Given the description of an element on the screen output the (x, y) to click on. 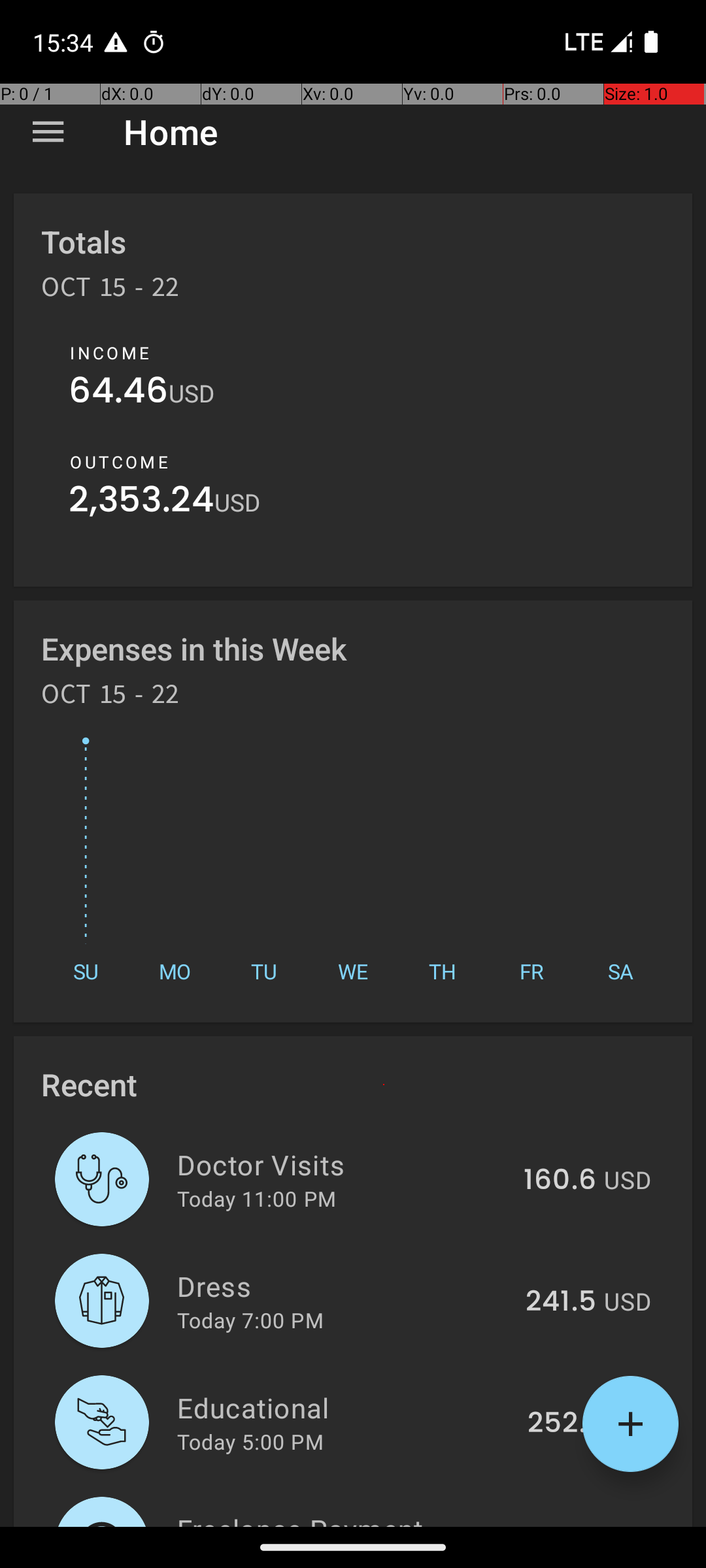
64.46 Element type: android.widget.TextView (118, 393)
2,353.24 Element type: android.widget.TextView (141, 502)
Doctor Visits Element type: android.widget.TextView (342, 1164)
Today 11:00 PM Element type: android.widget.TextView (256, 1198)
160.6 Element type: android.widget.TextView (559, 1180)
Dress Element type: android.widget.TextView (343, 1285)
Today 7:00 PM Element type: android.widget.TextView (250, 1320)
241.5 Element type: android.widget.TextView (560, 1301)
Educational Element type: android.widget.TextView (344, 1407)
Today 5:00 PM Element type: android.widget.TextView (250, 1441)
252.1 Element type: android.widget.TextView (561, 1423)
Freelance Payment Element type: android.widget.TextView (338, 1518)
